Given the description of an element on the screen output the (x, y) to click on. 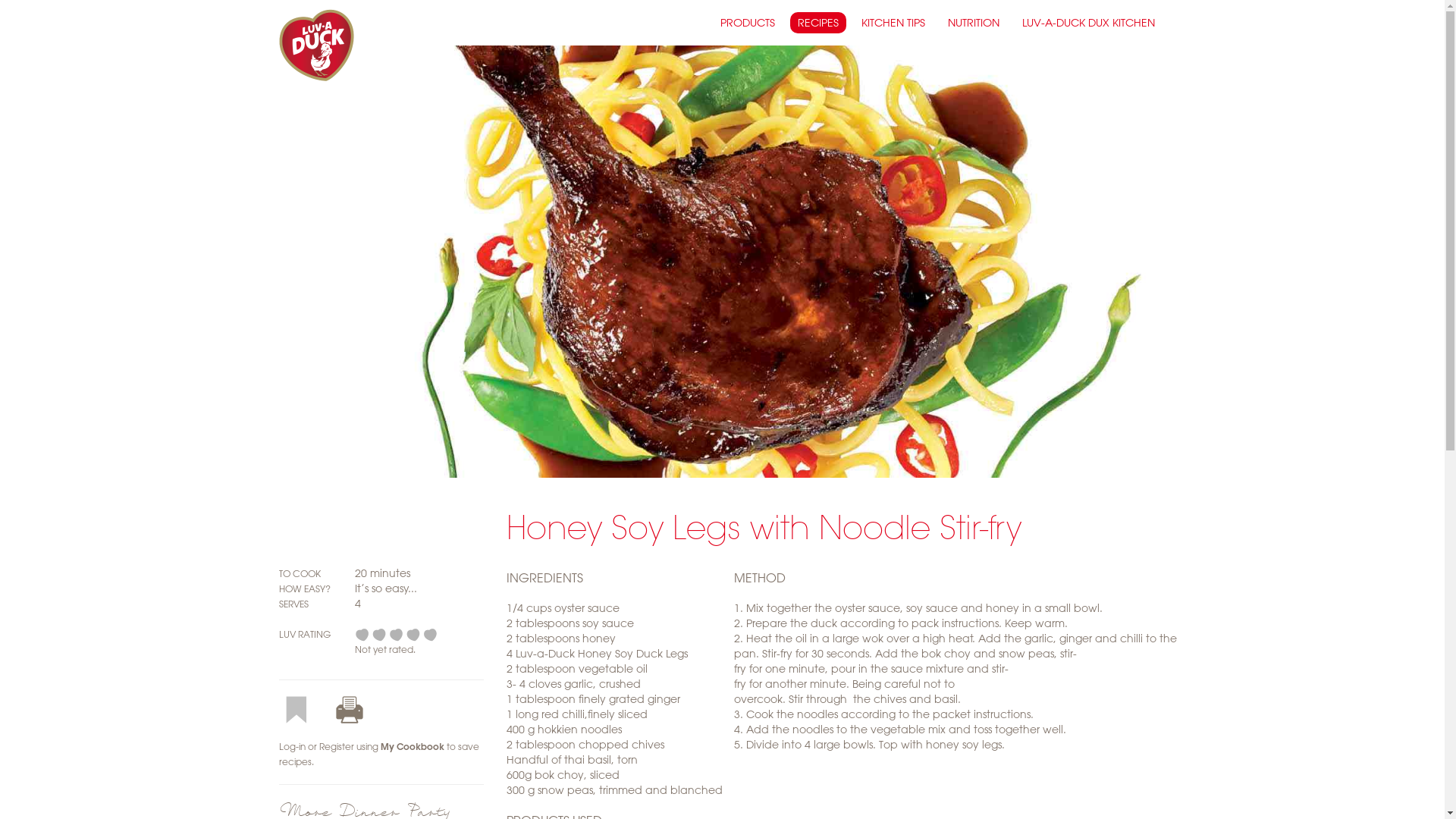
NUTRITION Element type: text (973, 22)
RECIPES Element type: text (818, 22)
Print this recipe Element type: hover (357, 708)
PRODUCTS Element type: text (747, 22)
LUV-A-DUCK DUX KITCHEN Element type: text (1088, 22)
KITCHEN TIPS Element type: text (892, 22)
